Given the description of an element on the screen output the (x, y) to click on. 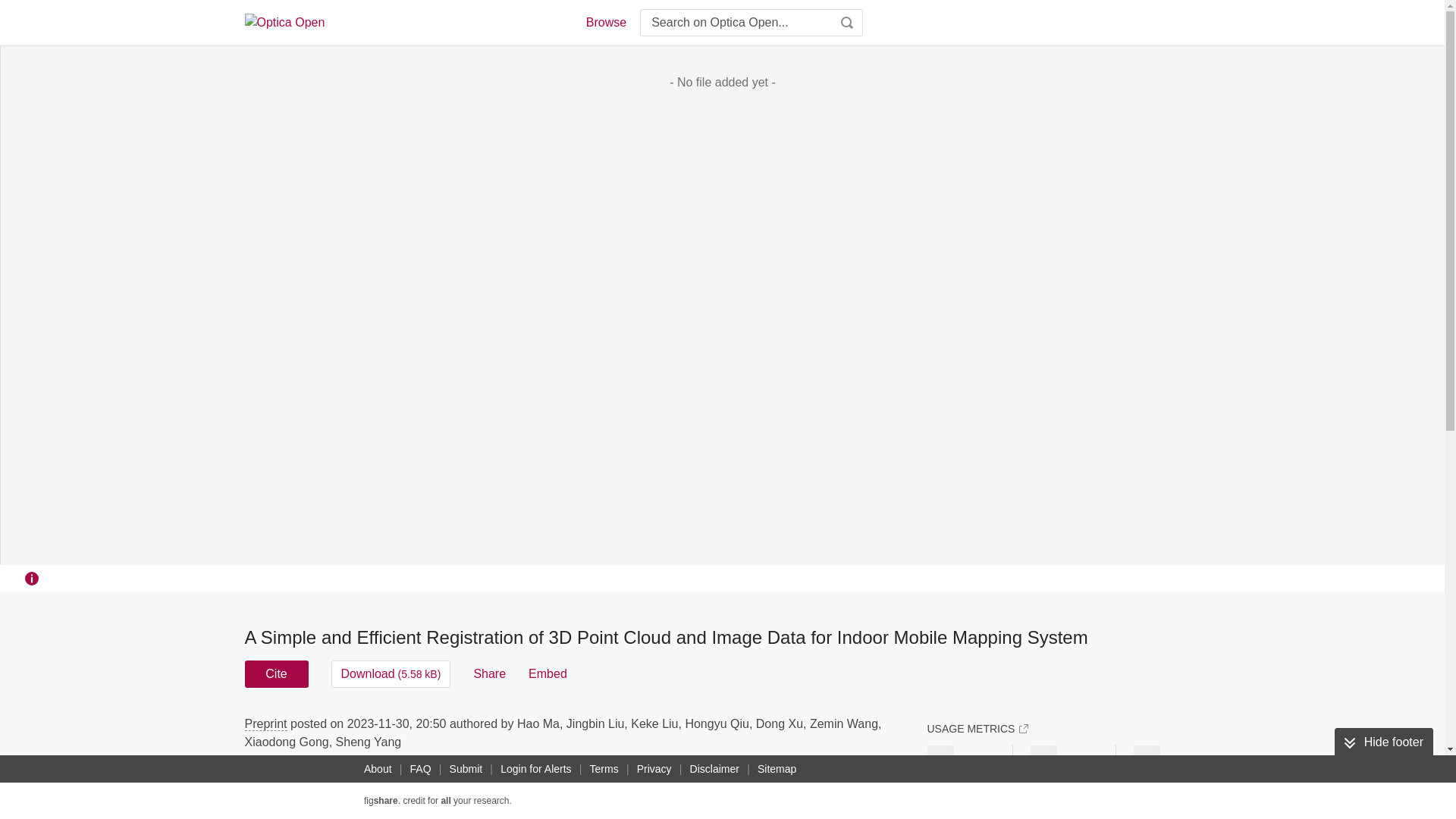
Sitemap (776, 769)
Terms (604, 769)
Disclaimer (714, 769)
Privacy (654, 769)
USAGE METRICS (976, 728)
FAQ (420, 769)
Cite (275, 673)
Embed (547, 673)
Submit (466, 769)
Browse (605, 22)
